Given the description of an element on the screen output the (x, y) to click on. 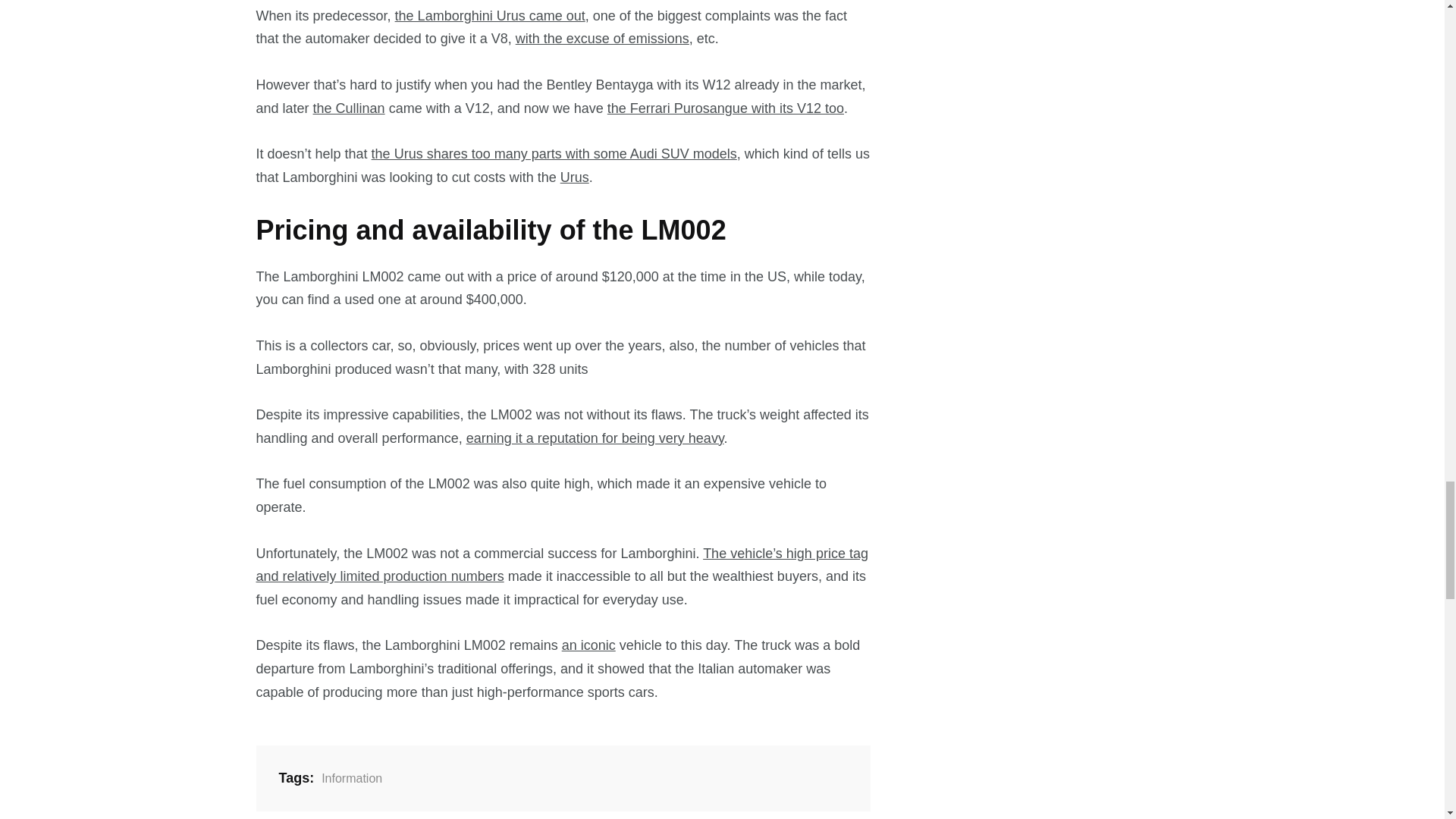
the Cullinan (349, 108)
the Ferrari Purosangue with its V12 too (725, 108)
the Urus shares too many parts with some Audi SUV models (553, 153)
earning it a reputation for being very heavy (594, 437)
Information (349, 778)
the Lamborghini Urus came out (489, 15)
with the excuse of emissions (601, 38)
Urus (574, 177)
an iconic (588, 645)
